Given the description of an element on the screen output the (x, y) to click on. 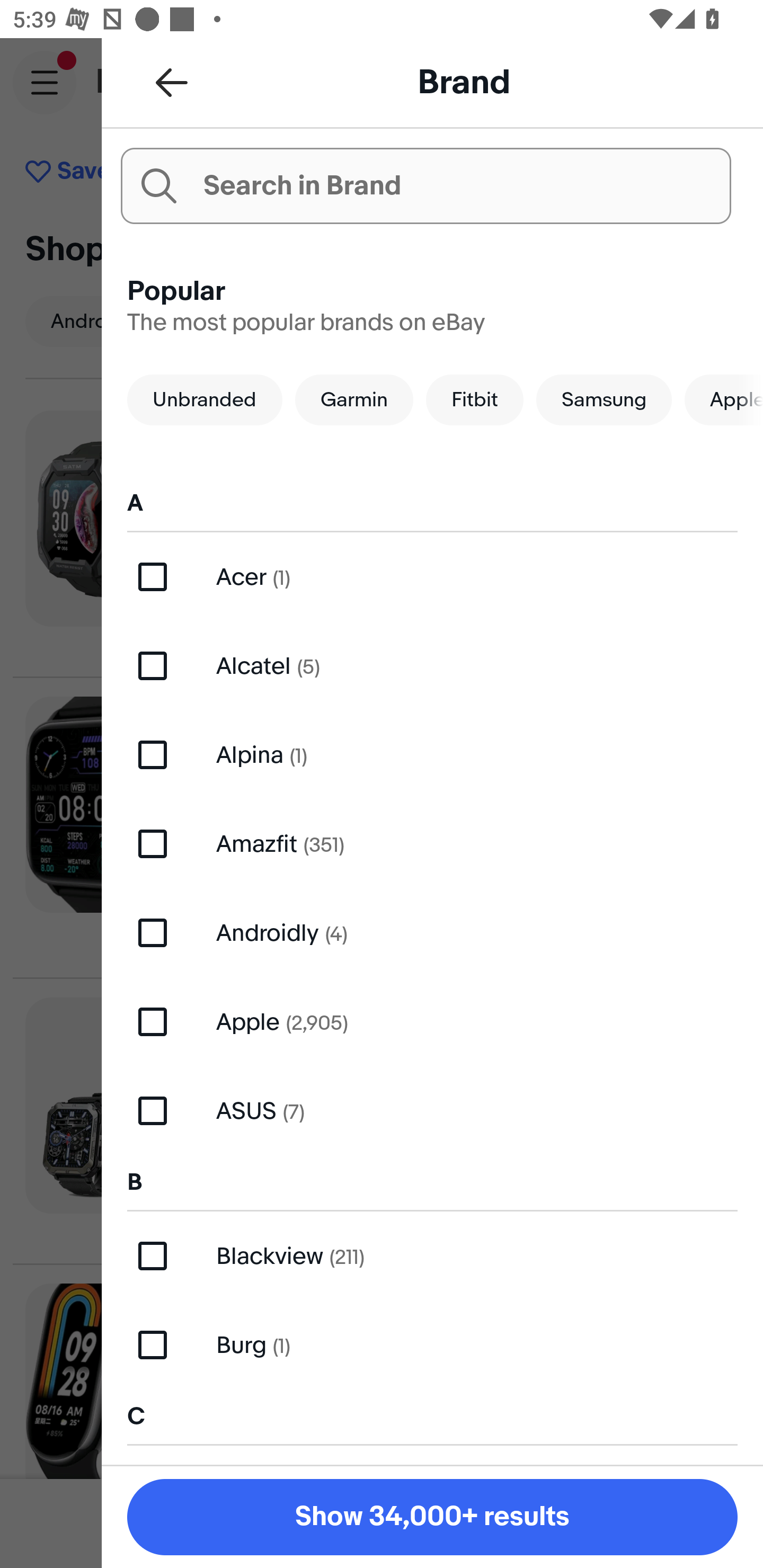
Back to all refinements (171, 81)
Search in Brand (425, 185)
Unbranded (204, 399)
Garmin (354, 399)
Fitbit (474, 399)
Samsung (604, 399)
Apple (723, 399)
Acer (1) (432, 576)
Alcatel (5) (432, 665)
Alpina (1) (432, 754)
Amazfit (351) (432, 844)
Androidly (4) (432, 932)
Apple (2,905) (432, 1021)
ASUS (7) (432, 1110)
Blackview (211) (432, 1255)
Burg (1) (432, 1344)
Show 34,000+ results (432, 1516)
